Given the description of an element on the screen output the (x, y) to click on. 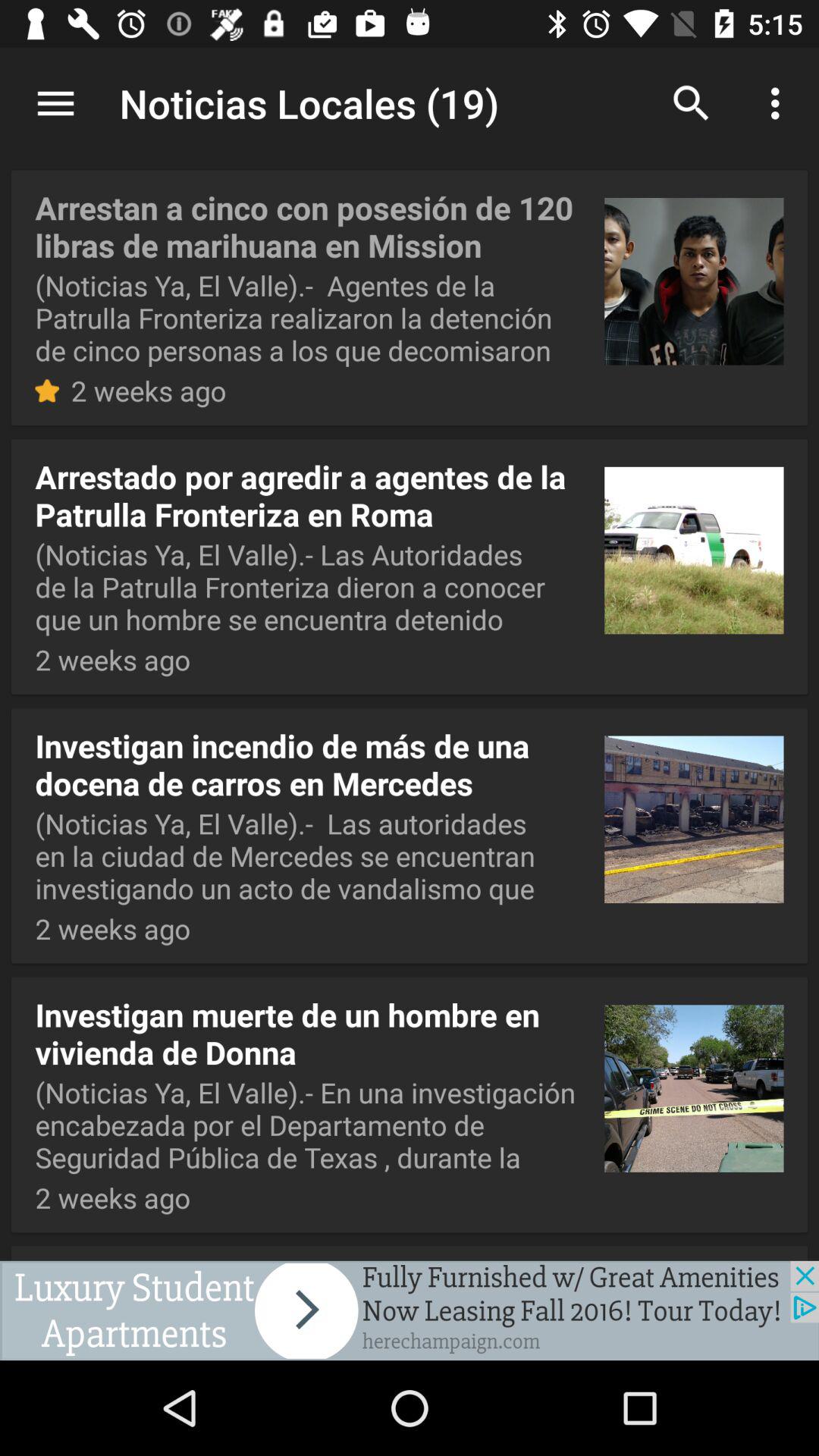
toggle the advertisement option (409, 1310)
